Given the description of an element on the screen output the (x, y) to click on. 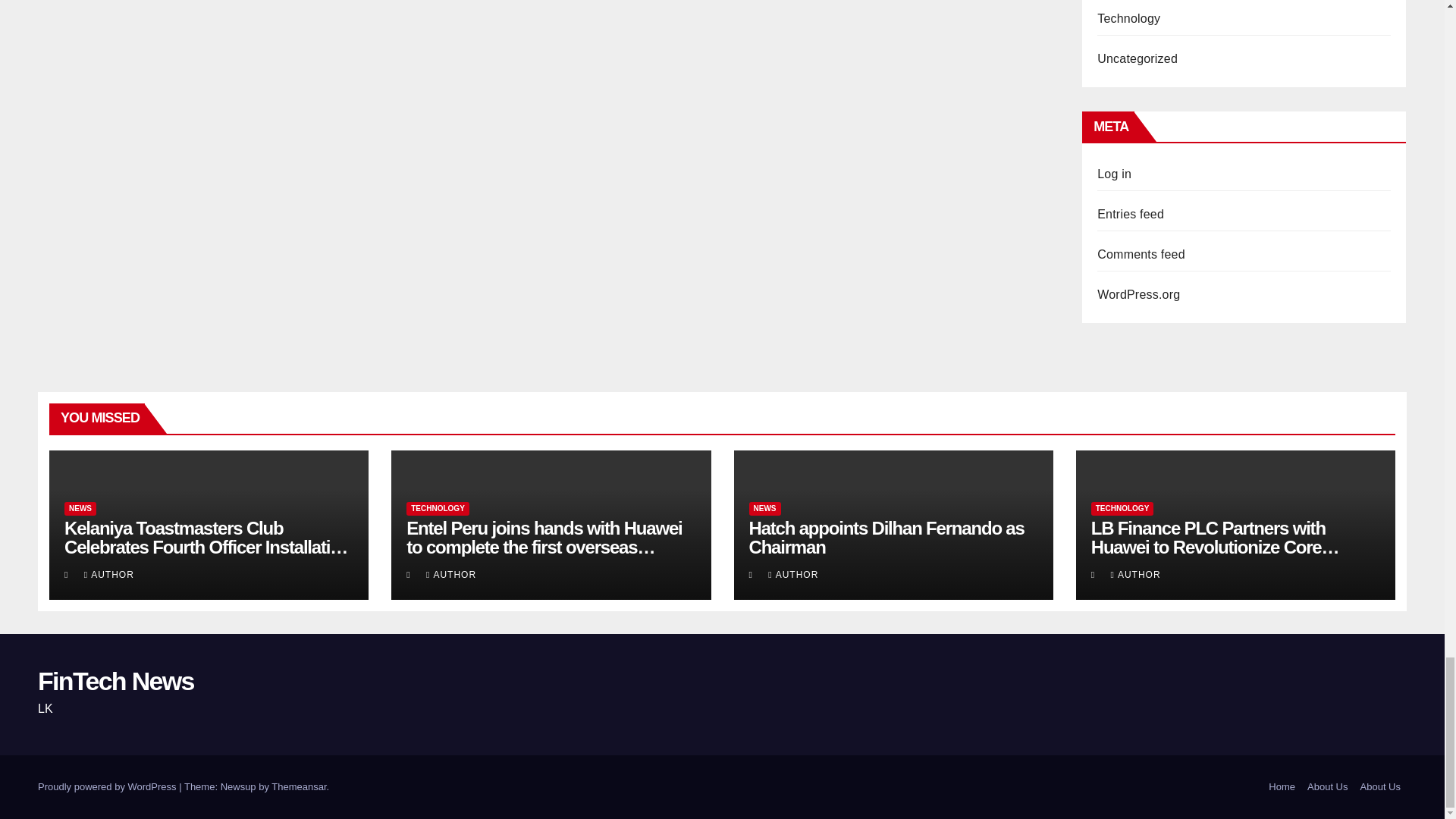
Permalink to: Hatch appoints Dilhan Fernando as Chairman (887, 537)
Home (1281, 786)
